Given the description of an element on the screen output the (x, y) to click on. 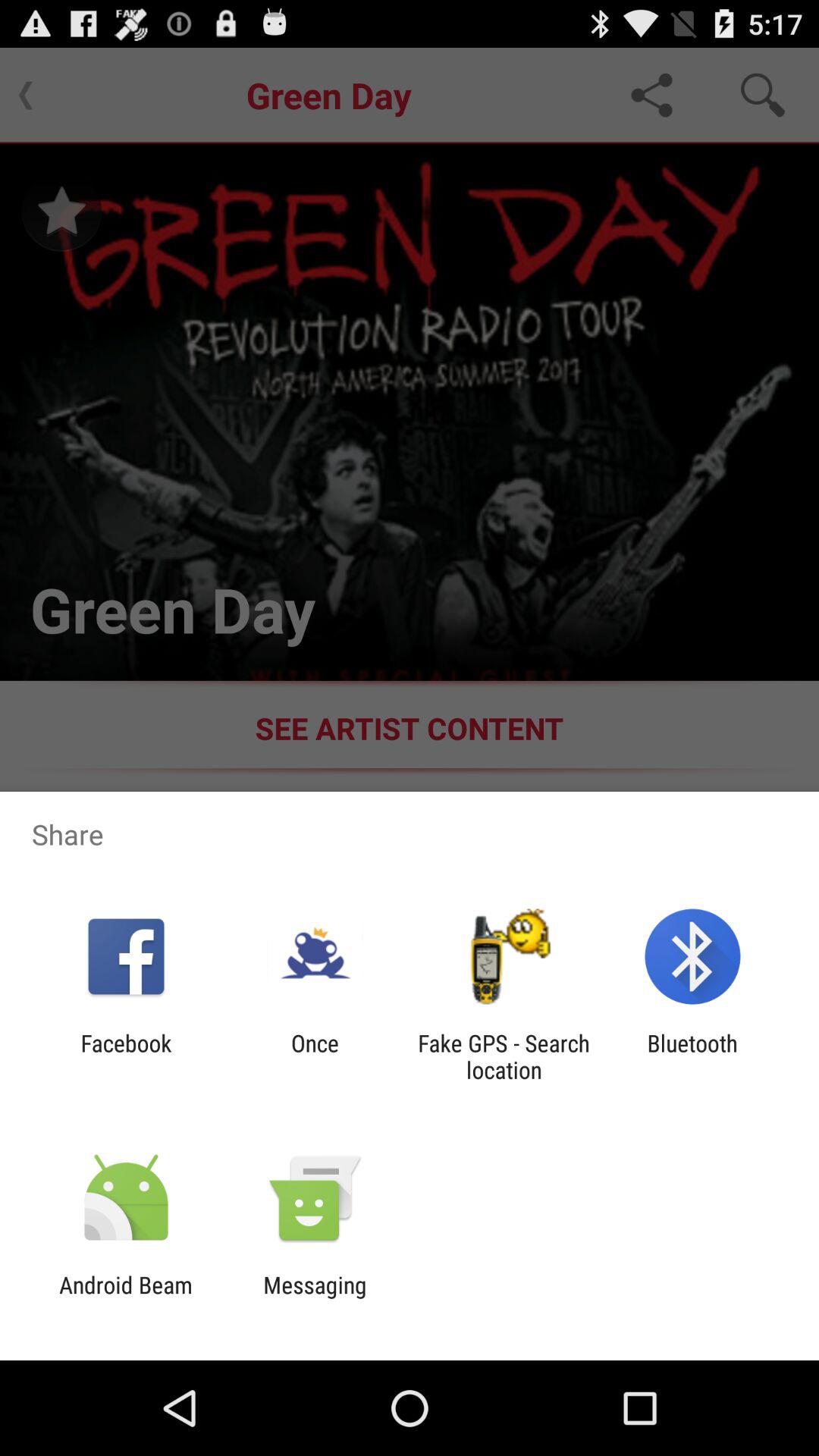
flip until bluetooth (692, 1056)
